Given the description of an element on the screen output the (x, y) to click on. 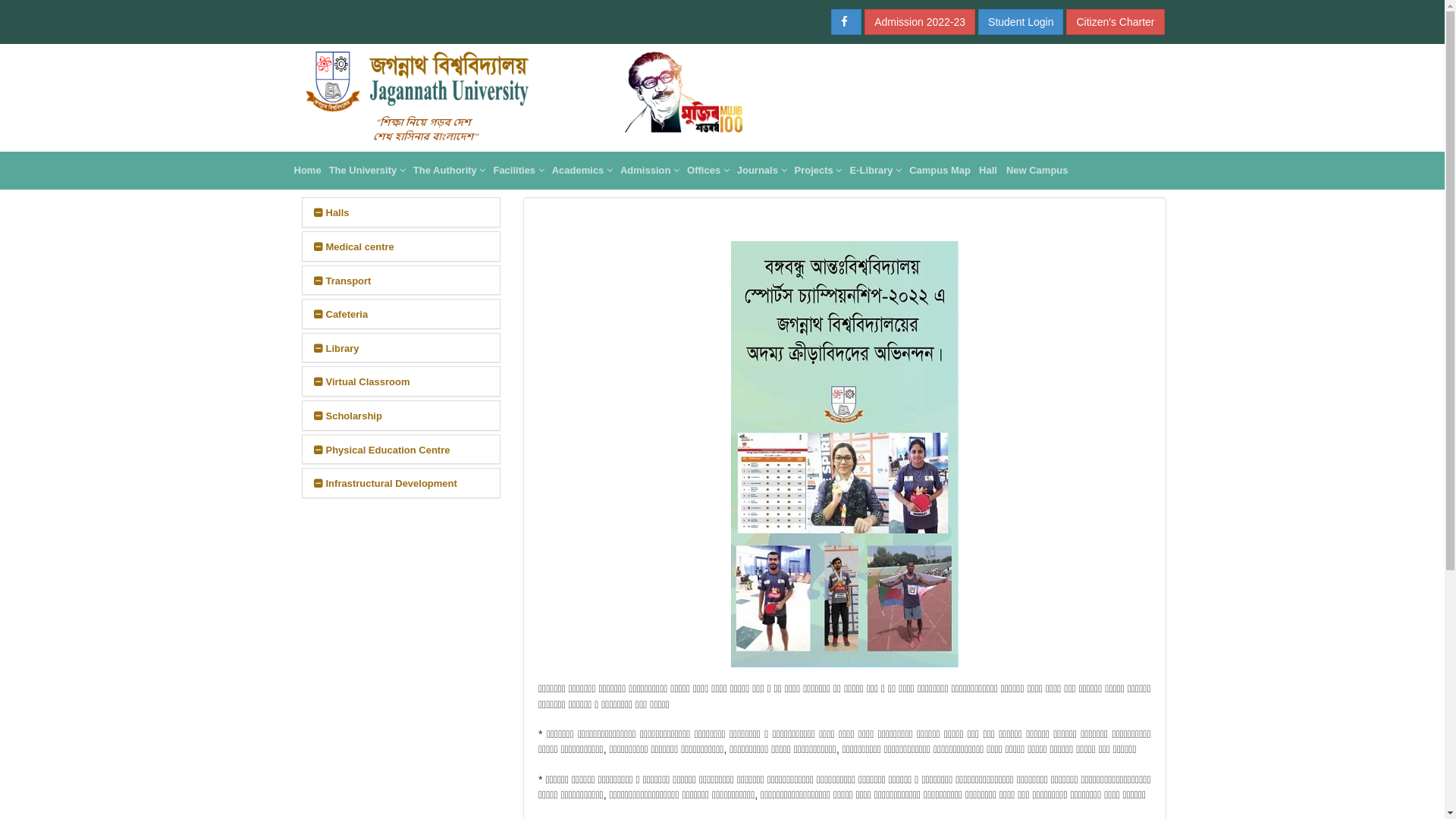
Offices Element type: text (708, 170)
E-Library Element type: text (875, 170)
Home Element type: text (306, 170)
Citizen's Charter Element type: text (1115, 21)
Scholarship Element type: text (347, 415)
Cafeteria Element type: text (340, 314)
Medical centre Element type: text (353, 246)
Halls Element type: text (331, 212)
Academics Element type: text (582, 170)
Projects Element type: text (818, 170)
Journals Element type: text (761, 170)
The Authority Element type: text (449, 170)
Physical Education Centre Element type: text (381, 449)
The University Element type: text (367, 170)
Campus Map Element type: text (939, 170)
Facilities Element type: text (518, 170)
Hall Element type: text (987, 170)
Library Element type: text (336, 348)
Virtual Classroom Element type: text (361, 381)
Transport Element type: text (342, 280)
Infrastructural Development Element type: text (385, 483)
New Campus Element type: text (1037, 170)
Admission Element type: text (649, 170)
Admission 2022-23 Element type: text (919, 21)
Student Login Element type: text (1020, 21)
